Given the description of an element on the screen output the (x, y) to click on. 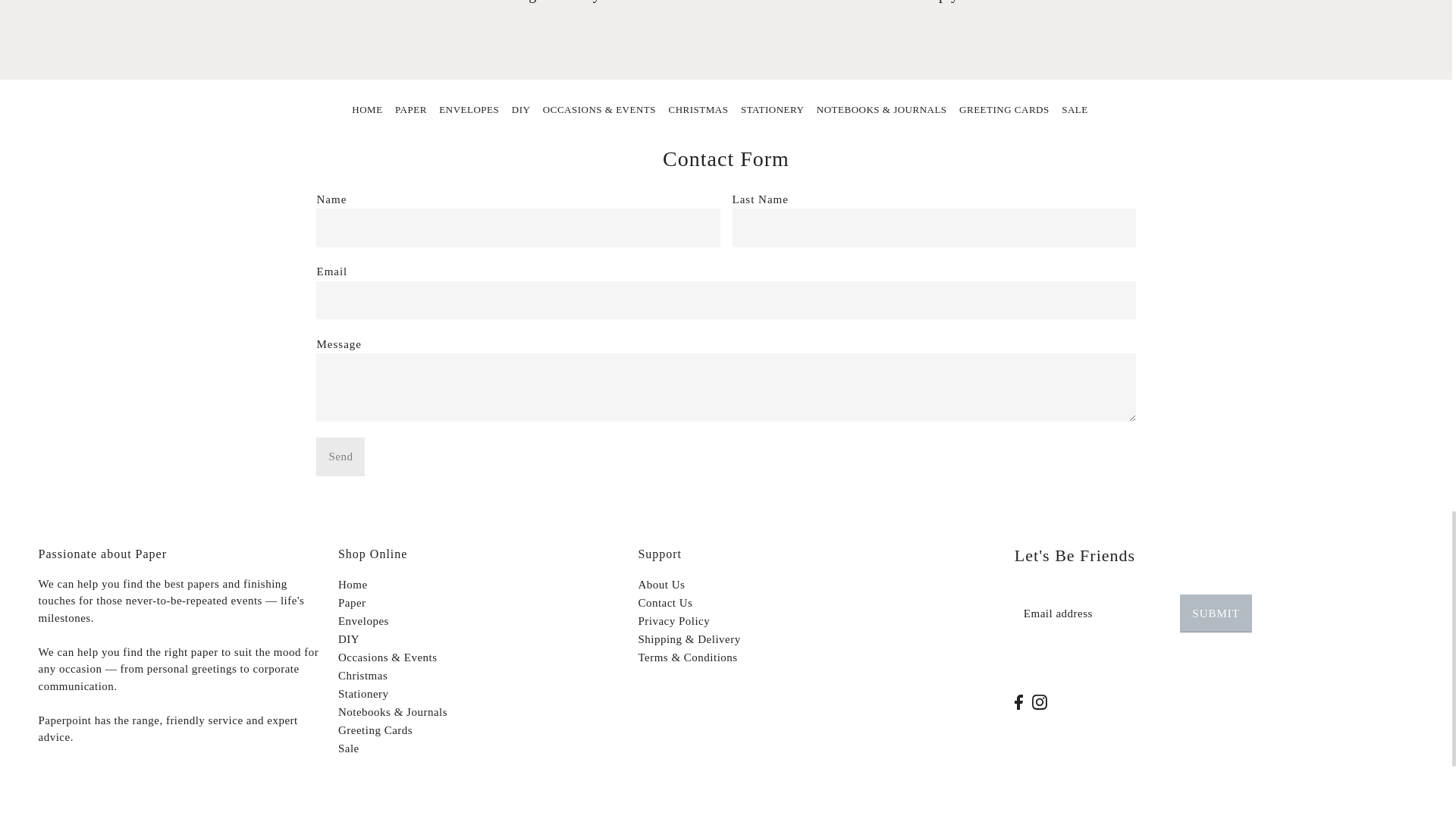
Stationery (772, 110)
Envelopes (469, 110)
Christmas (698, 110)
DIY (521, 110)
Send (340, 456)
Home (366, 110)
Greeting Cards (1004, 110)
Sale (1074, 110)
Paper (410, 110)
